Given the description of an element on the screen output the (x, y) to click on. 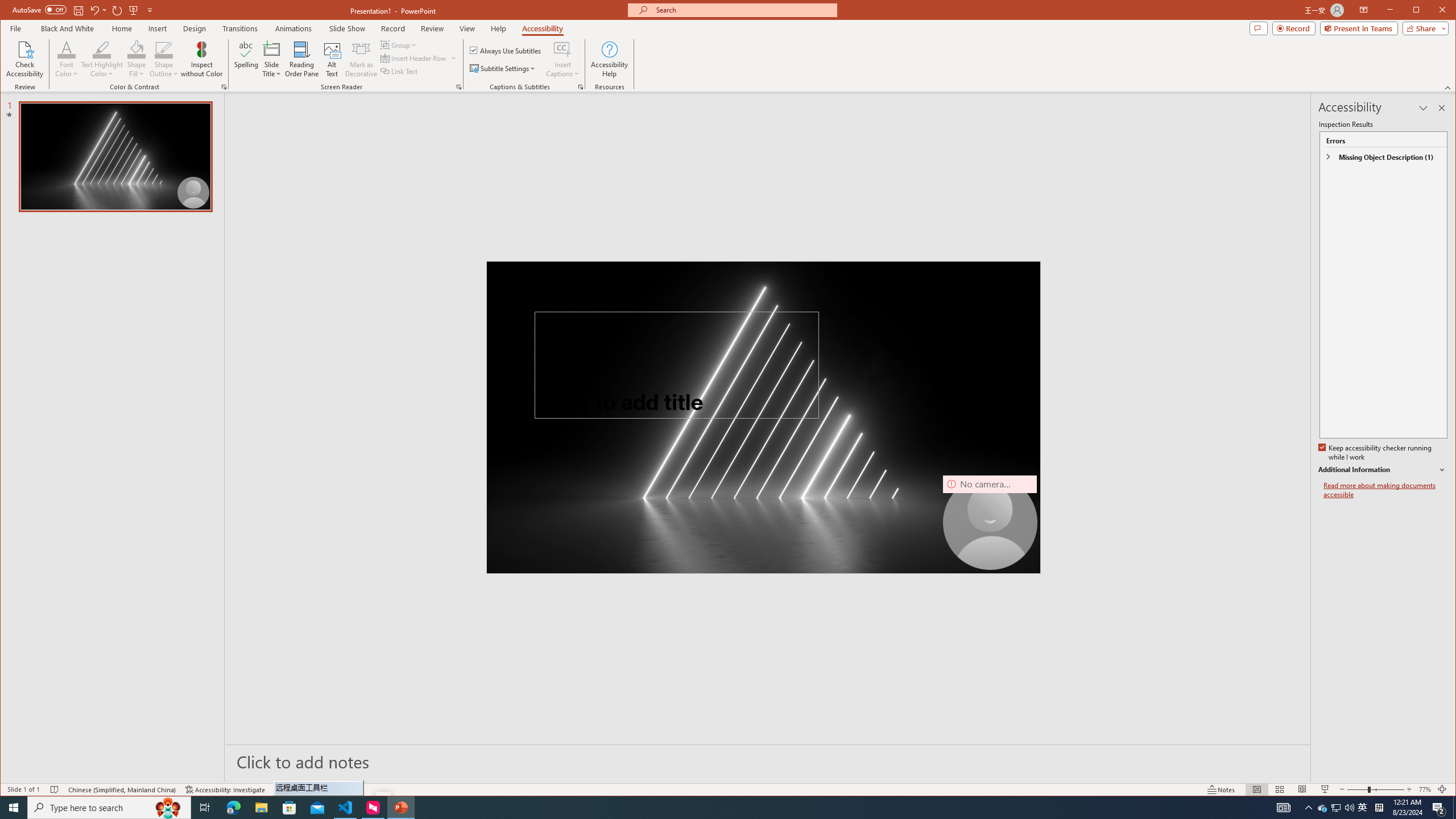
Additional Information (1382, 469)
Mark as Decorative (360, 59)
Subtitle TextBox (649, 466)
Slide Title (271, 59)
Read more about making documents accessible (1385, 489)
Screen Reader (458, 86)
Insert Captions (562, 59)
Shape Fill Orange, Accent 2 (136, 48)
